Given the description of an element on the screen output the (x, y) to click on. 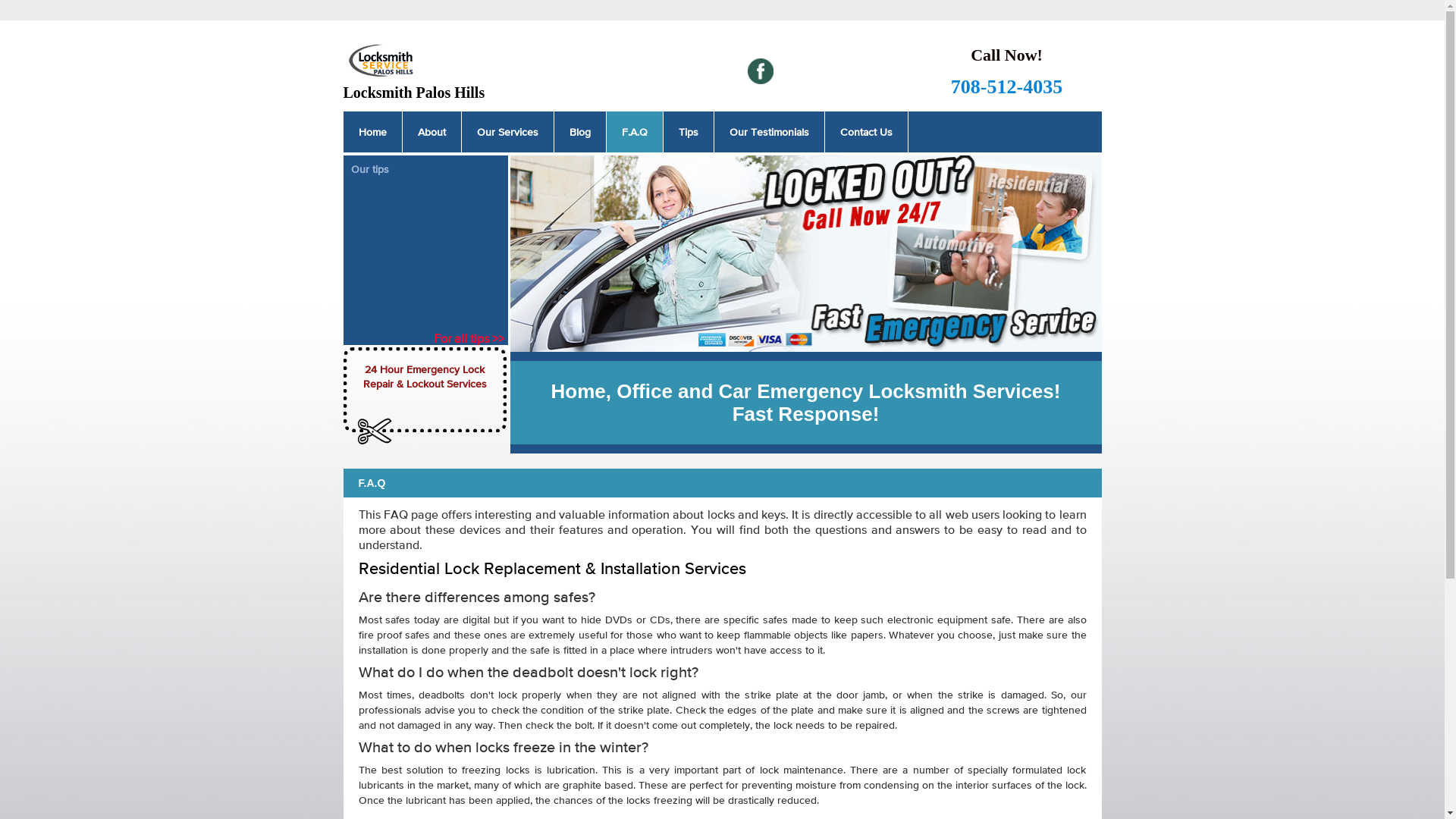
Blog Element type: text (579, 131)
24 Hour Emergency Lock Repair & Lockout Services Element type: text (425, 389)
Locksmith Palos Hills, IL | 708-512-4035 | Home Security Element type: hover (805, 253)
Our Testimonials Element type: text (769, 131)
Tips Element type: text (687, 131)
Our Services Element type: text (506, 131)
F.A.Q Element type: text (634, 131)
About Element type: text (430, 131)
Contact Us Element type: text (866, 131)
Facebook Element type: text (760, 71)
Home Element type: text (371, 131)
For all tips >> Element type: text (470, 337)
